Given the description of an element on the screen output the (x, y) to click on. 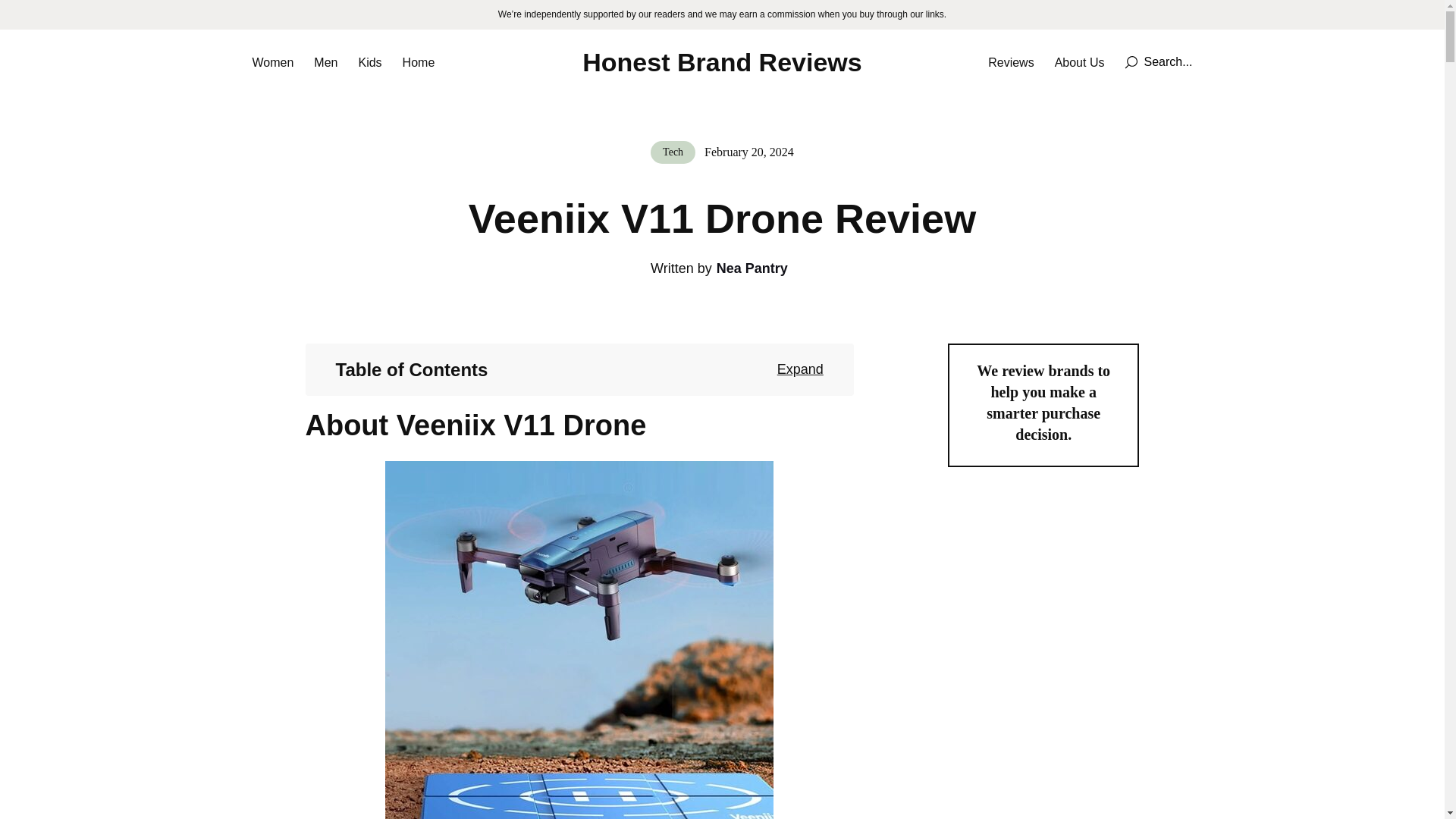
Women (272, 62)
Men (325, 62)
